Given the description of an element on the screen output the (x, y) to click on. 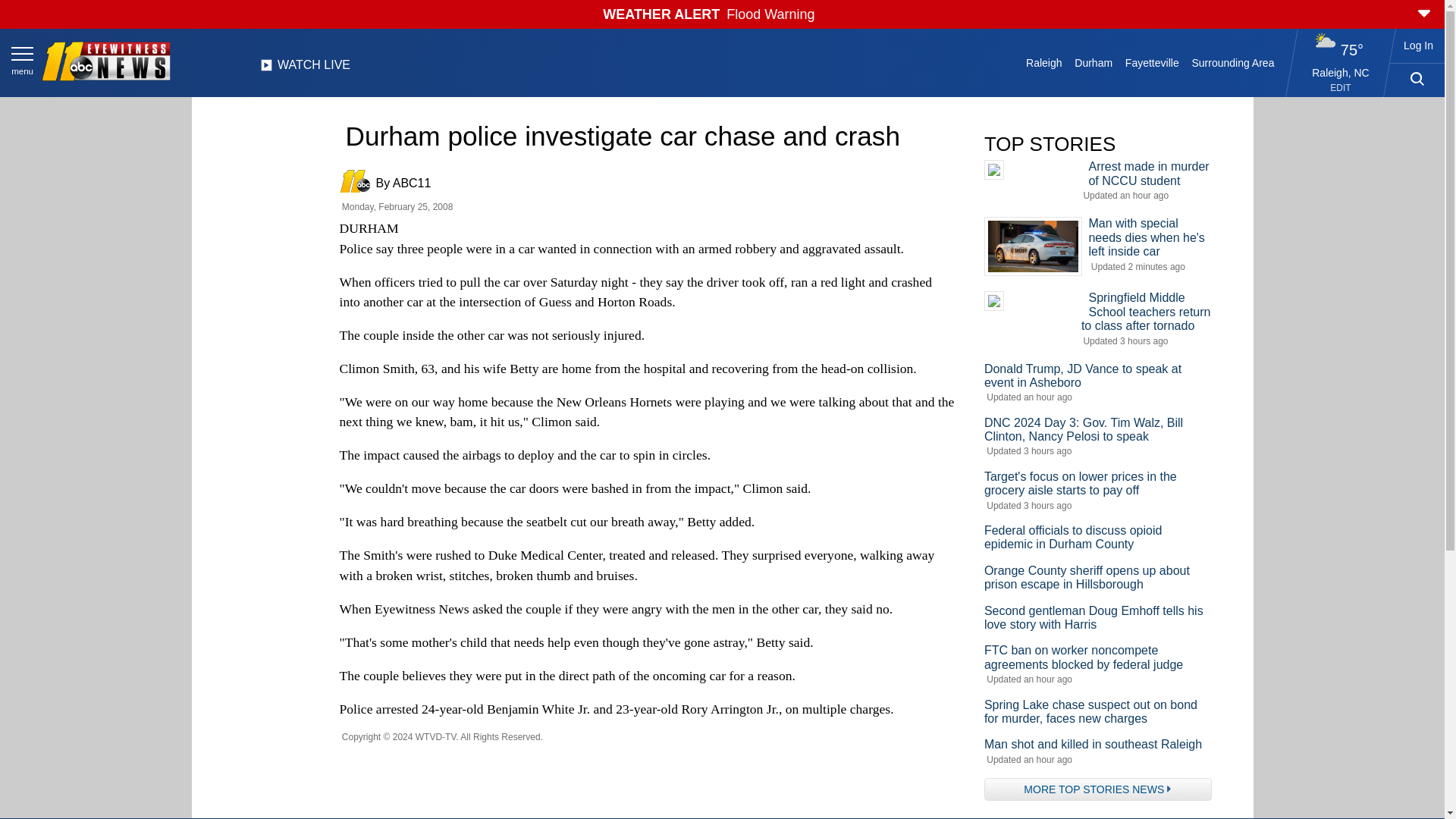
Surrounding Area (1233, 62)
Raleigh, NC (1340, 72)
WATCH LIVE (305, 69)
Durham (1093, 62)
EDIT (1340, 87)
Fayetteville (1151, 62)
Raleigh (1044, 62)
